Given the description of an element on the screen output the (x, y) to click on. 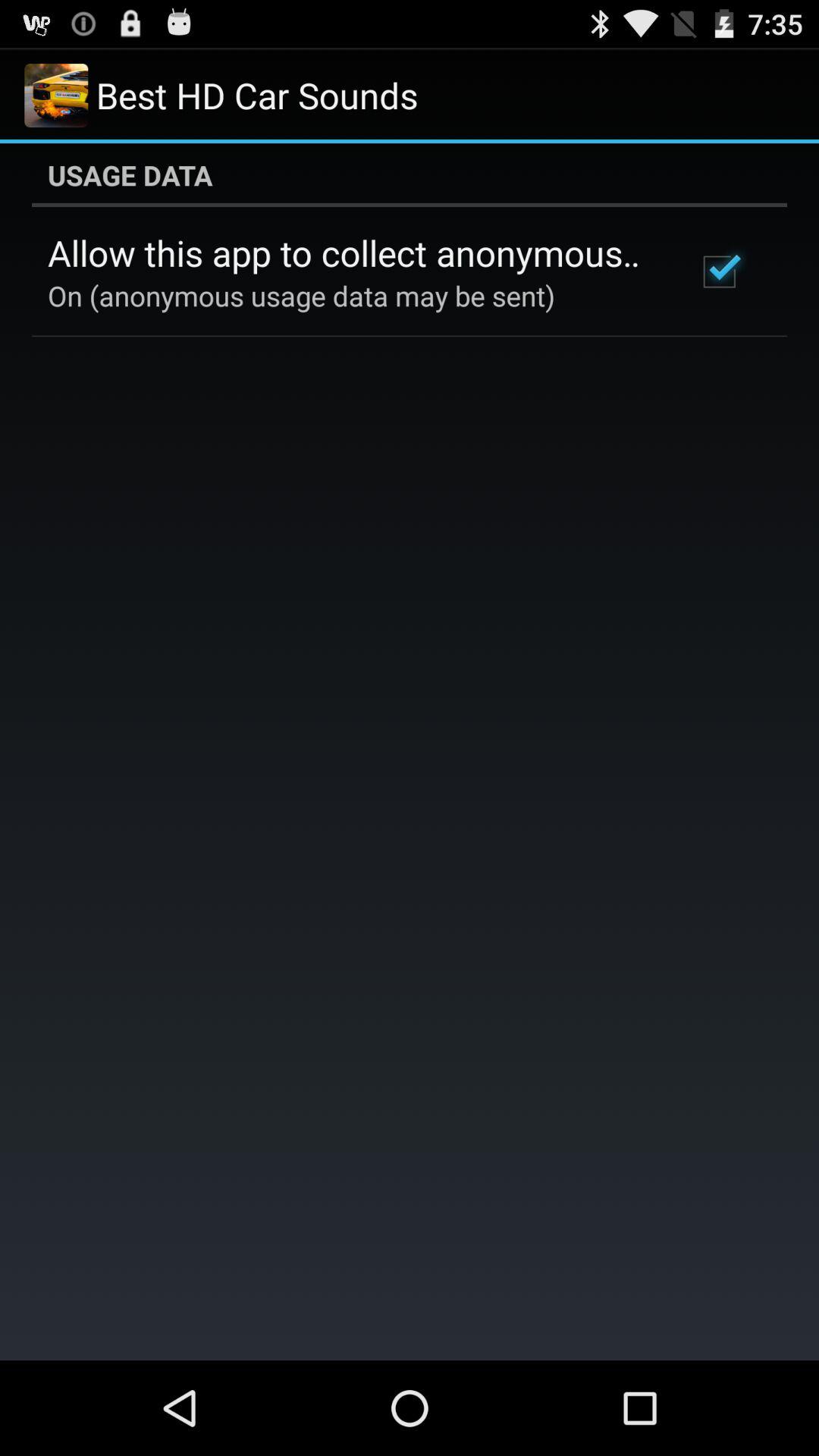
turn on the allow this app icon (351, 252)
